Given the description of an element on the screen output the (x, y) to click on. 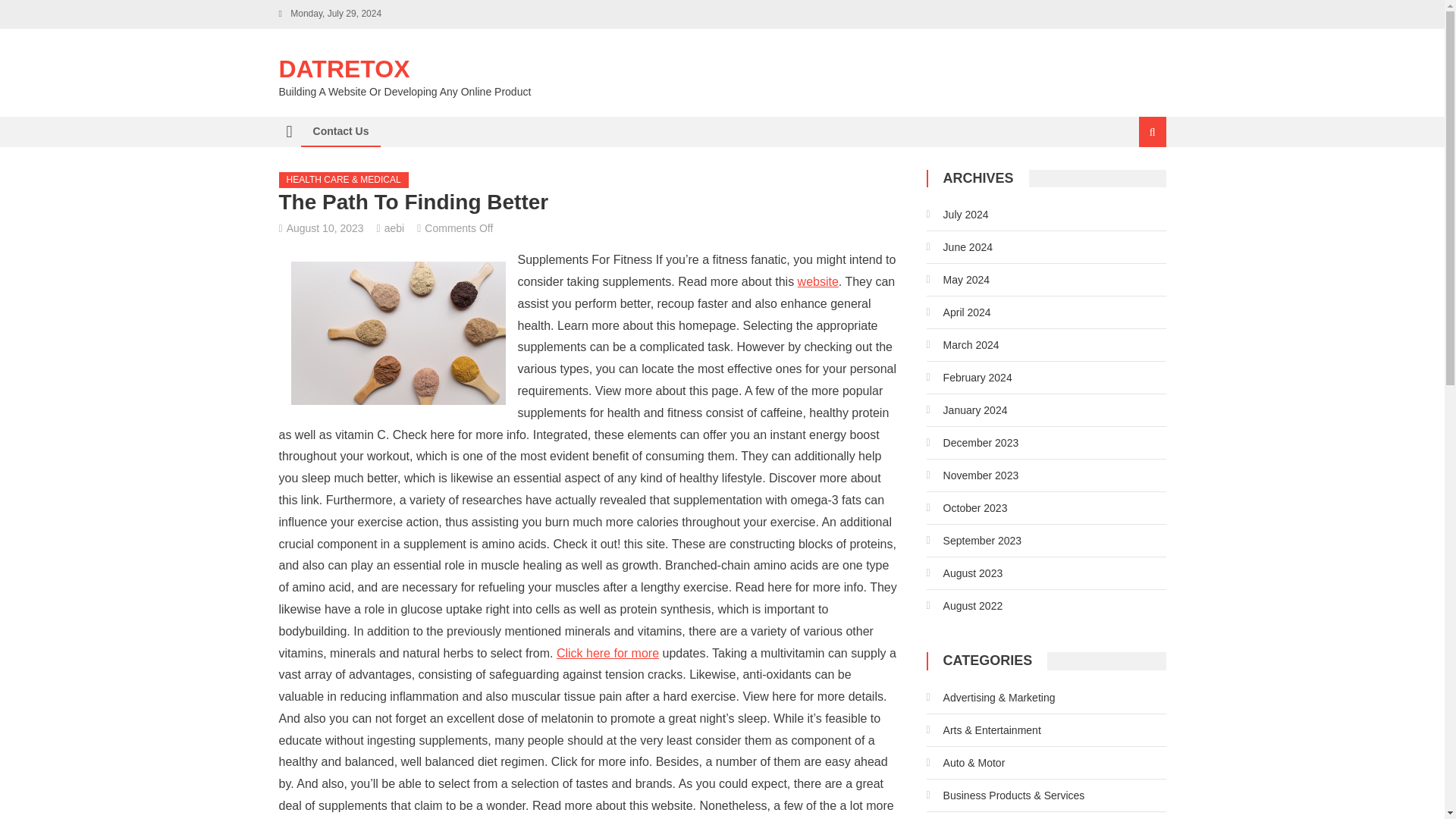
Search (1133, 182)
April 2024 (958, 312)
July 2024 (957, 214)
website (817, 281)
March 2024 (962, 344)
Click here for more (607, 652)
DATRETOX (344, 68)
June 2024 (959, 247)
aebi (394, 227)
January 2024 (966, 410)
August 10, 2023 (325, 227)
February 2024 (968, 377)
Contact Us (340, 131)
May 2024 (958, 279)
